Given the description of an element on the screen output the (x, y) to click on. 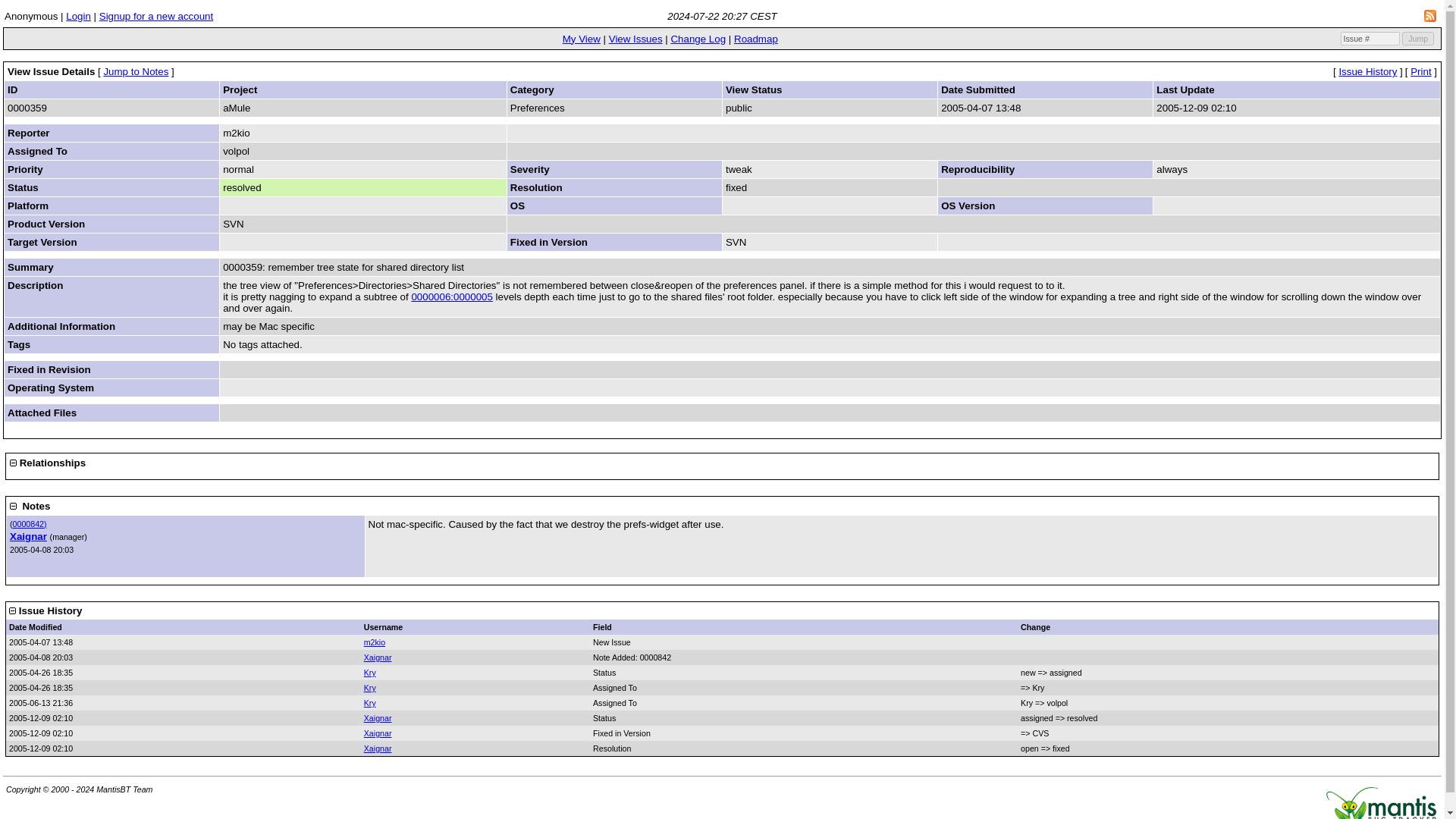
Jump (1418, 38)
Change Log (697, 39)
Jump to Notes (135, 71)
0000006:0000005 (451, 296)
Print (1420, 71)
Xaignar (377, 732)
Signup for a new account (155, 16)
Xaignar (28, 536)
Xaignar (377, 747)
Kry (369, 672)
Direct link to note (29, 523)
Xaignar (377, 717)
Xaignar (377, 656)
Jump (1418, 38)
Kry (369, 702)
